Given the description of an element on the screen output the (x, y) to click on. 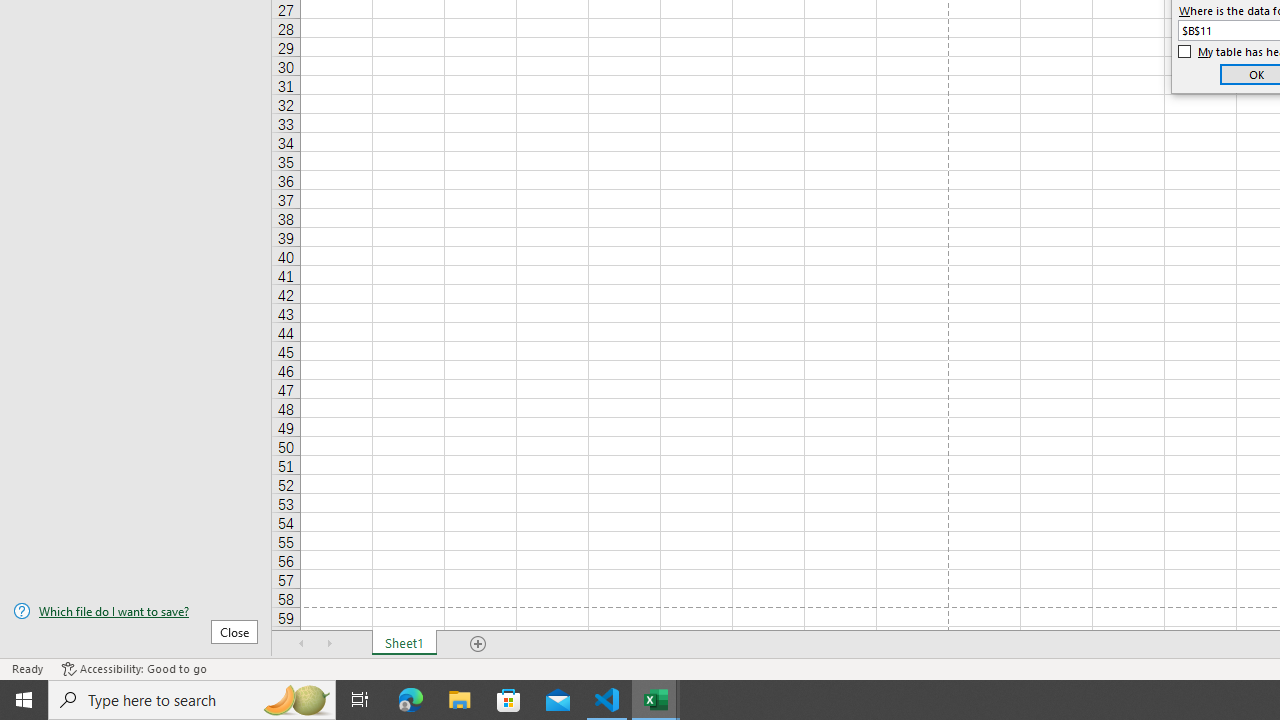
Sheet1 (404, 644)
Which file do I want to save? (136, 611)
Close (234, 631)
Scroll Left (302, 644)
Add Sheet (478, 644)
Accessibility Checker Accessibility: Good to go (134, 668)
Scroll Right (330, 644)
